Given the description of an element on the screen output the (x, y) to click on. 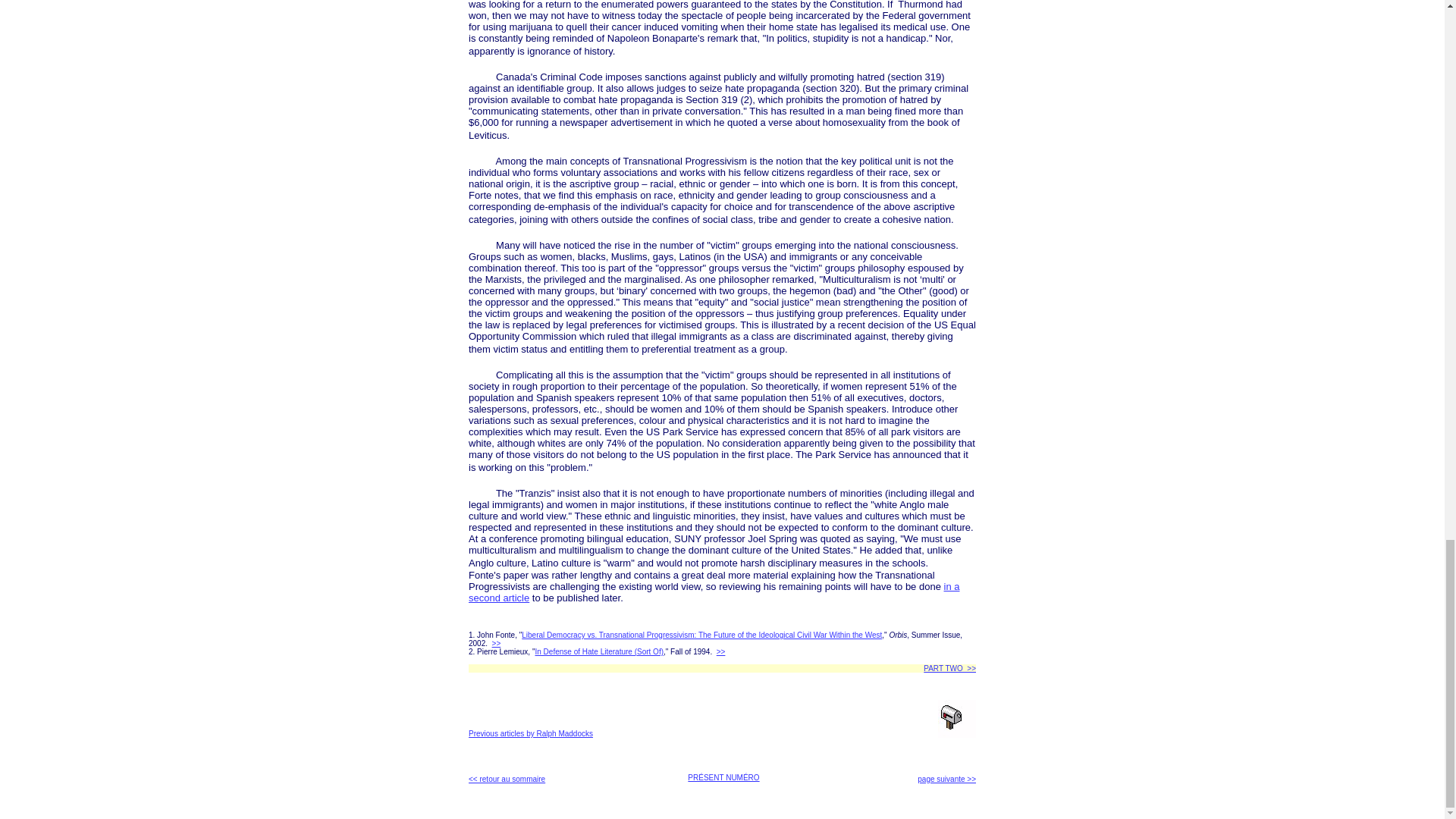
in a second article (713, 591)
Previous articles by Ralph Maddocks (530, 733)
